Given the description of an element on the screen output the (x, y) to click on. 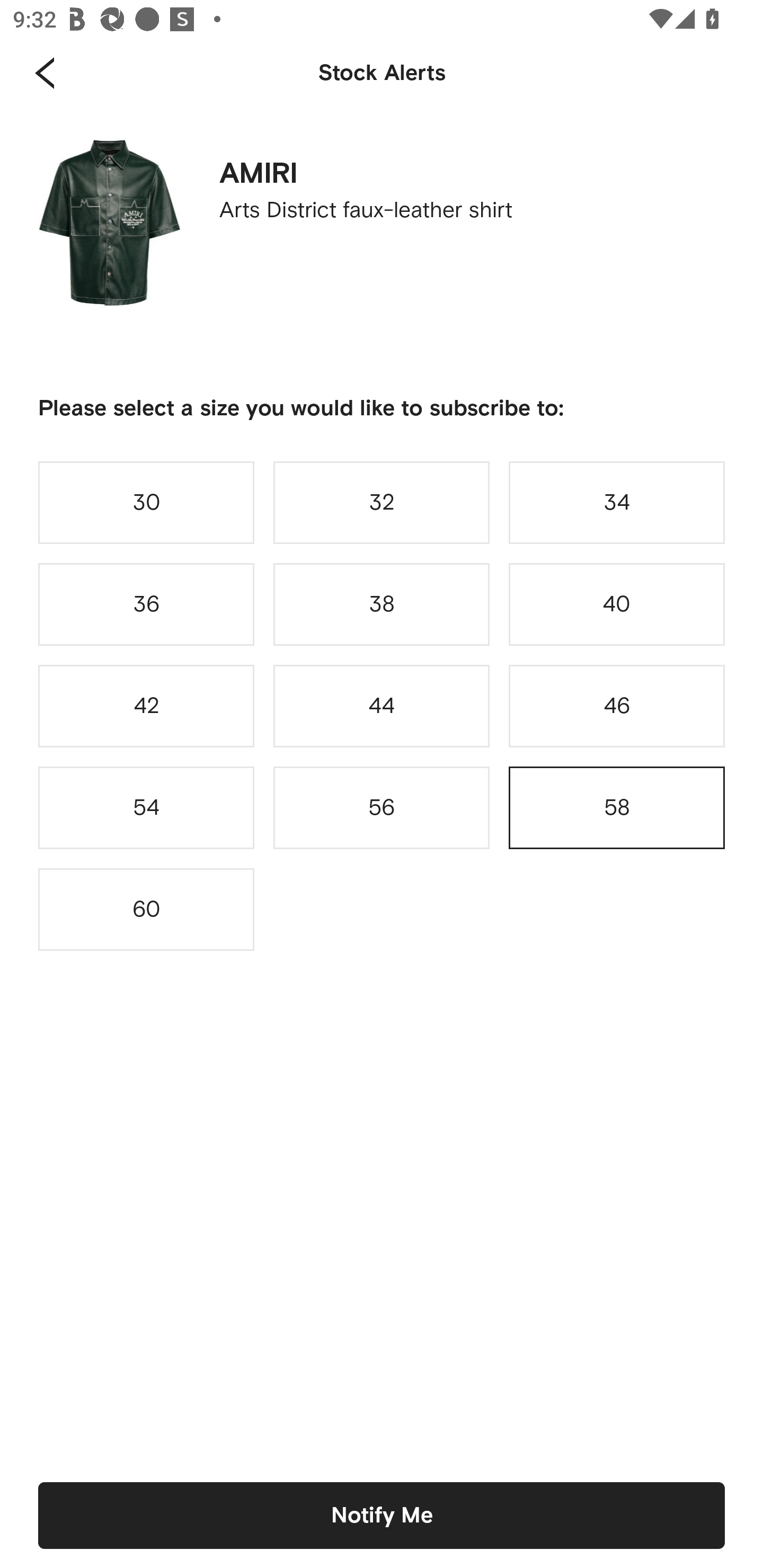
30 (146, 502)
32 (381, 502)
34 (616, 502)
36 (146, 604)
38 (381, 604)
40 (616, 604)
42 (146, 705)
44 (381, 705)
46 (616, 705)
54 (146, 807)
56 (381, 807)
58 (616, 807)
60 (146, 909)
Notify Me (381, 1515)
